Given the description of an element on the screen output the (x, y) to click on. 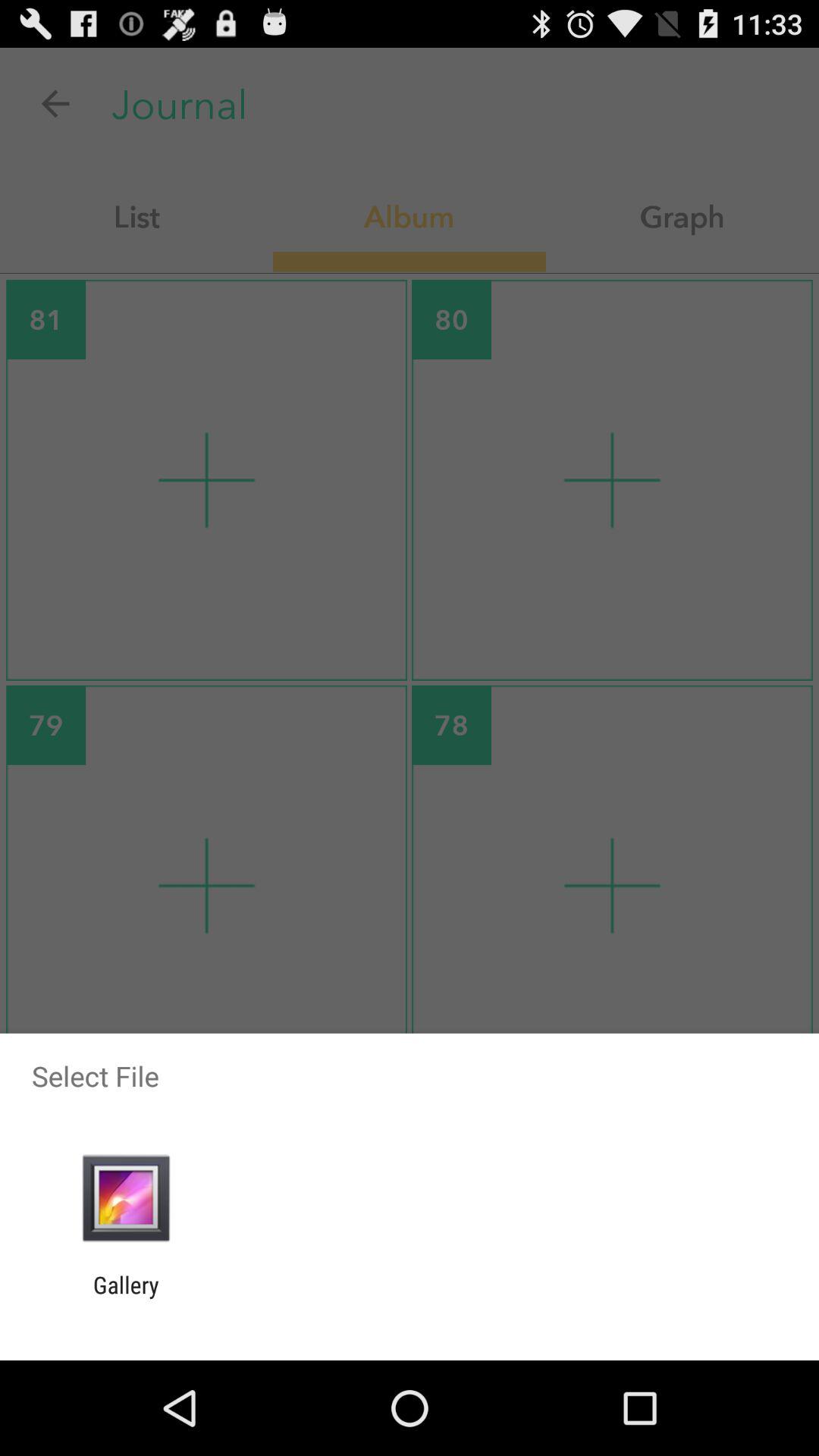
turn on item below select file (126, 1198)
